Given the description of an element on the screen output the (x, y) to click on. 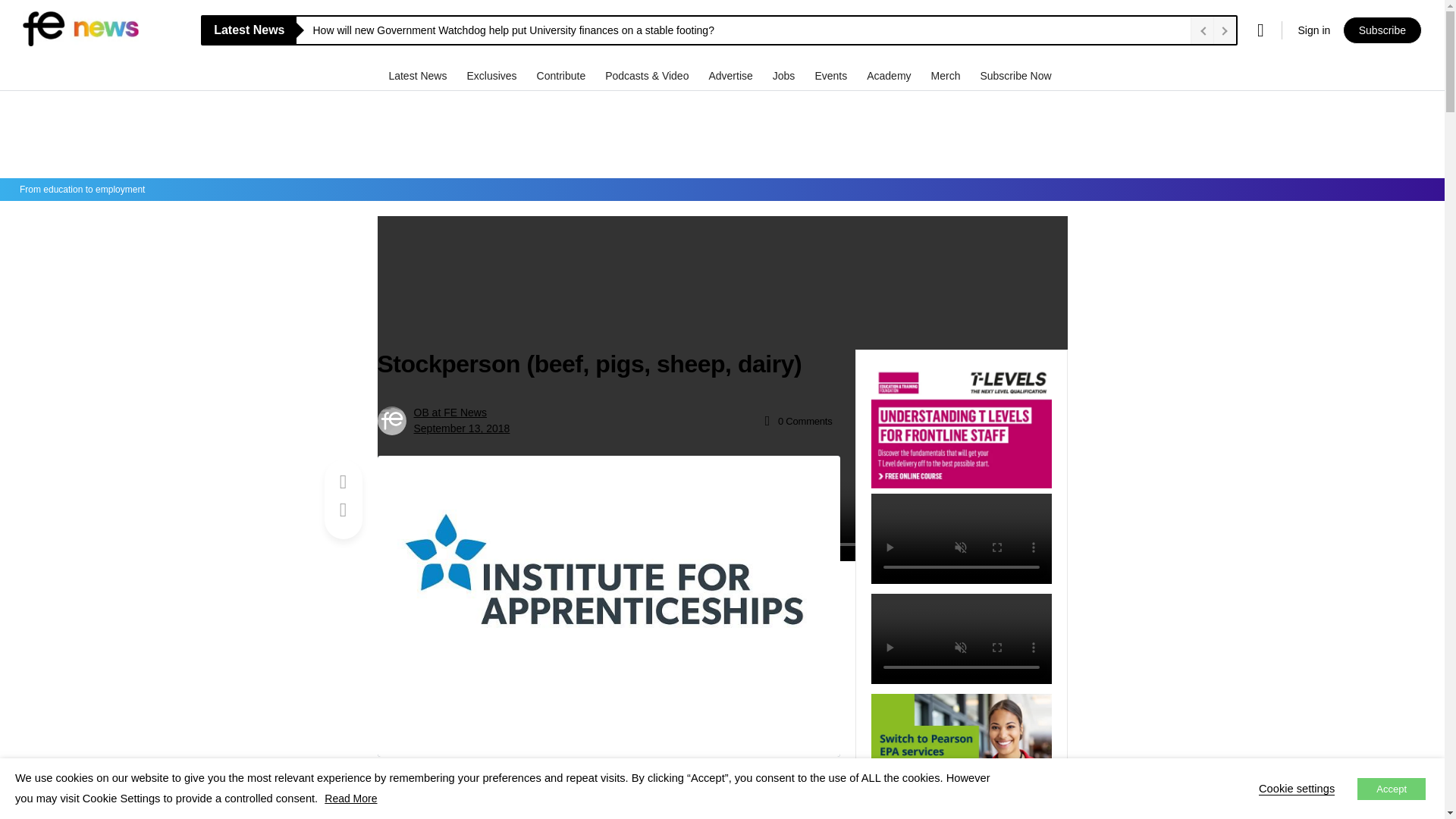
Subscribe (1382, 30)
Exclusives (493, 75)
Sign in (1313, 30)
Latest News (419, 75)
